Given the description of an element on the screen output the (x, y) to click on. 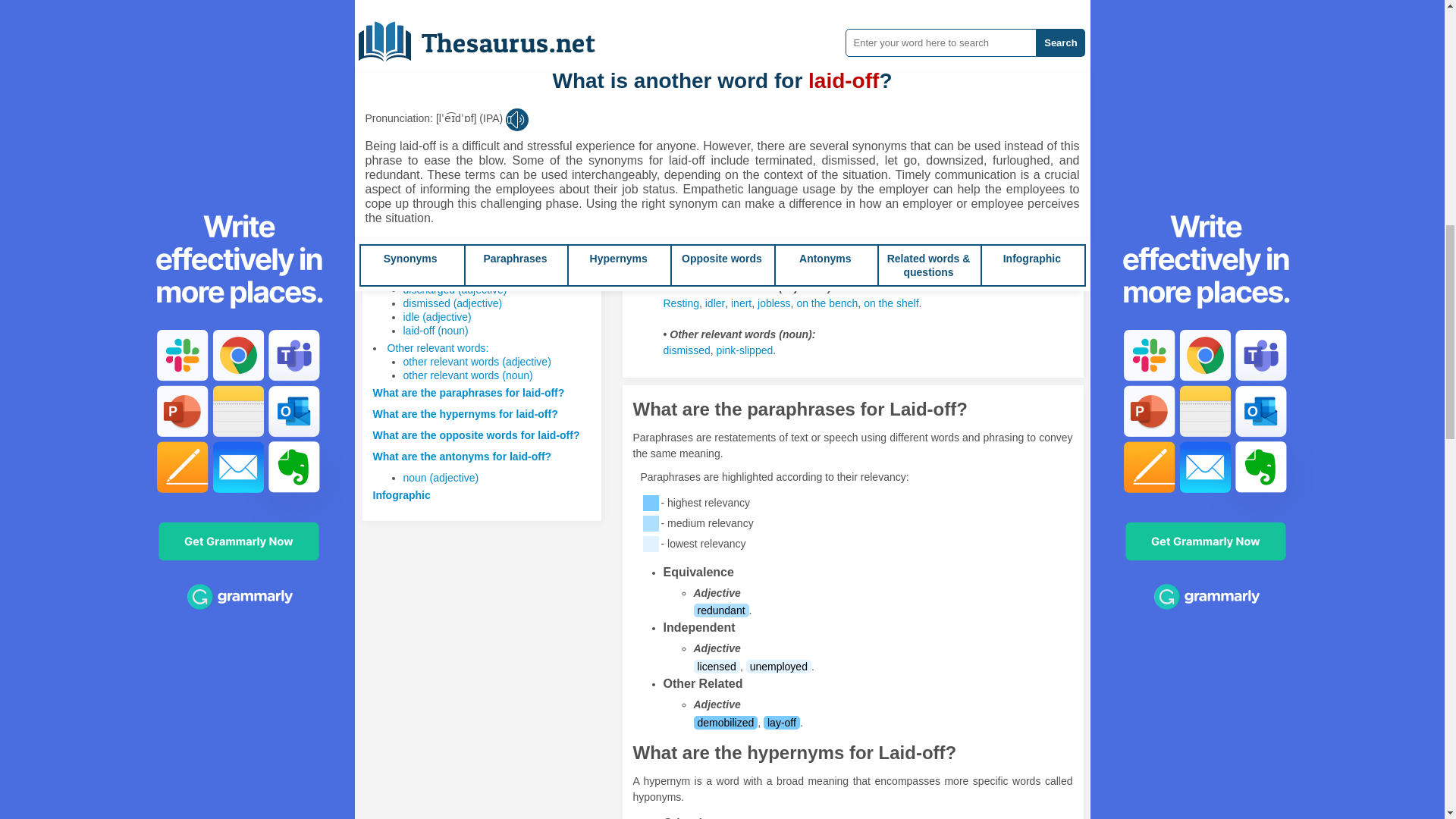
Synonyms for Laid-off (788, 44)
sent home (800, 28)
axed (970, 28)
What are the paraphrases for laid-off? (468, 392)
Synonyms for Laid-off (835, 44)
Other relevant words: (437, 347)
Synonyms for Laid-off (1005, 28)
Synonyms for Laid-off (799, 138)
Synonyms for Laid-off (737, 138)
let go (706, 44)
